Given the description of an element on the screen output the (x, y) to click on. 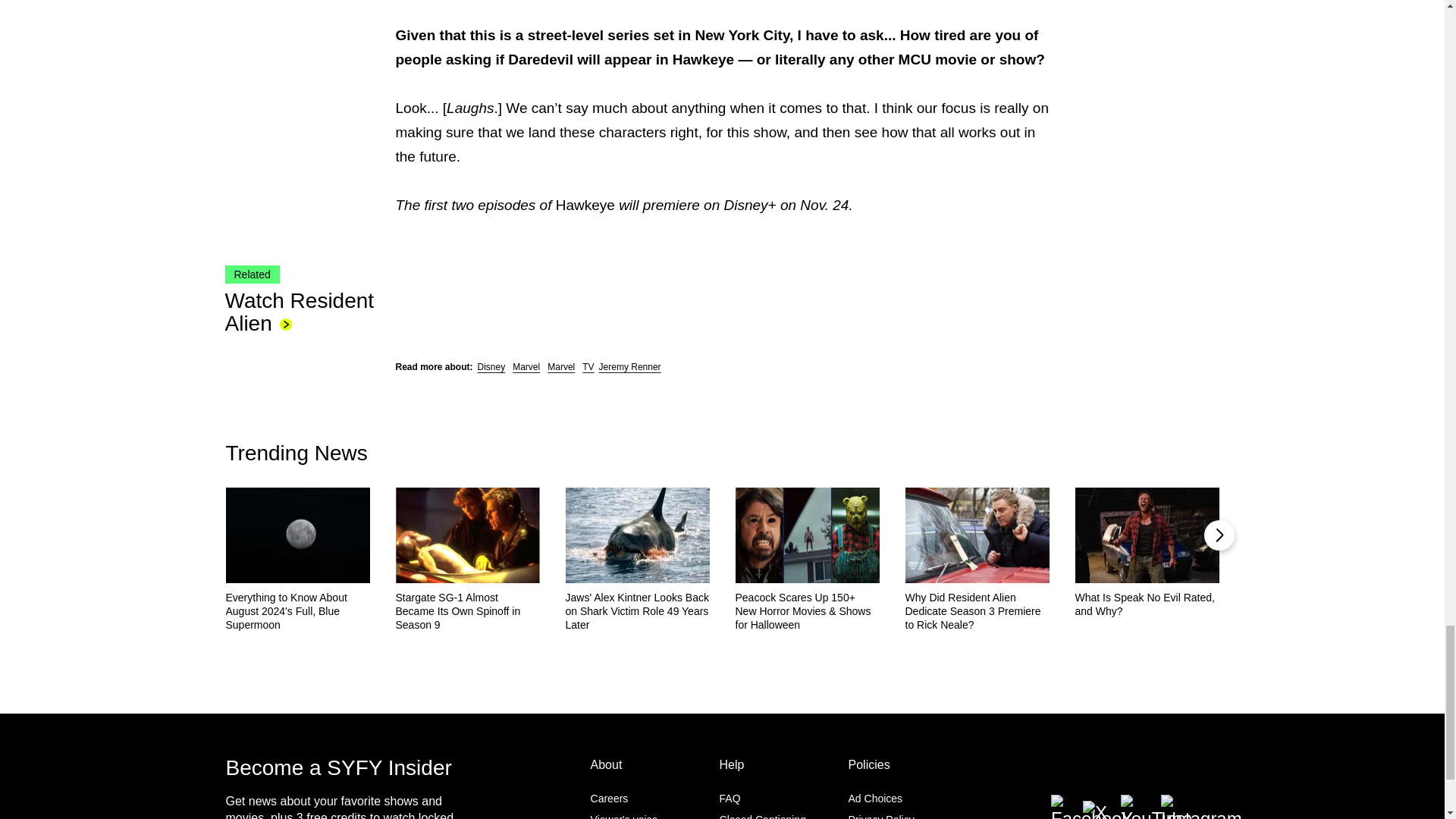
Disney (491, 366)
Marvel (526, 366)
Everything to Know About August 2024's Full, Blue Supermoon (297, 610)
Marvel (561, 366)
TV (588, 366)
Jeremy Renner (629, 366)
